Given the description of an element on the screen output the (x, y) to click on. 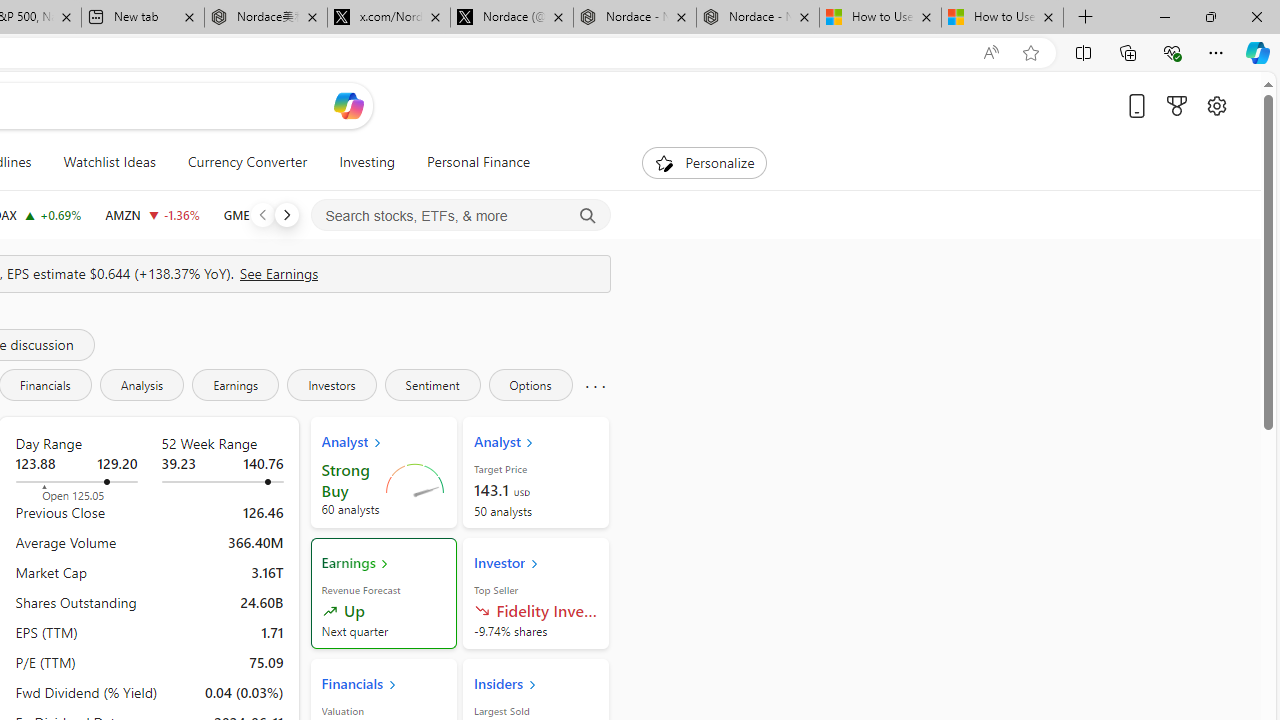
AMZN AMAZON.COM, INC. decrease 173.12 -2.38 -1.36% (152, 214)
Analysis (141, 384)
Currency Converter (247, 162)
Class: card_head_icon_lightMode-DS-EntryPoint1-1 (531, 684)
Open settings (1216, 105)
Earnings (236, 384)
